Given the description of an element on the screen output the (x, y) to click on. 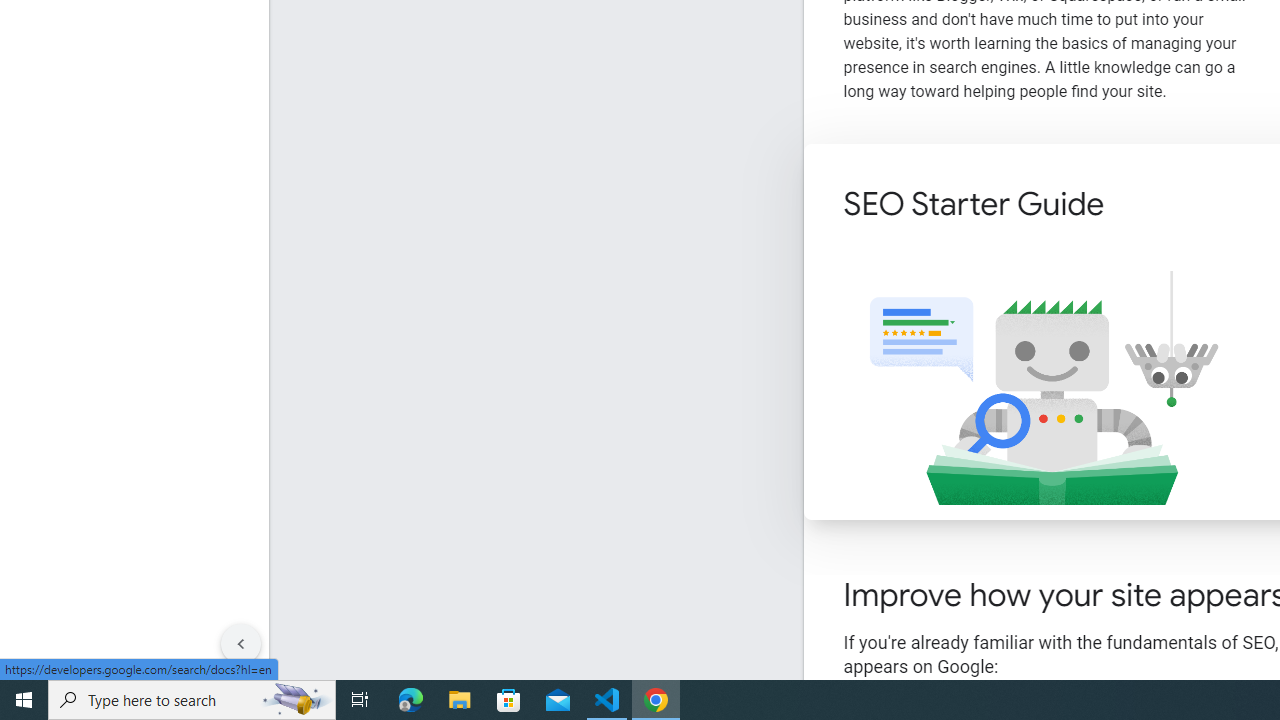
Hide side navigation (241, 643)
Copy link to this section: SEO Starter Guide  (1131, 205)
